Given the description of an element on the screen output the (x, y) to click on. 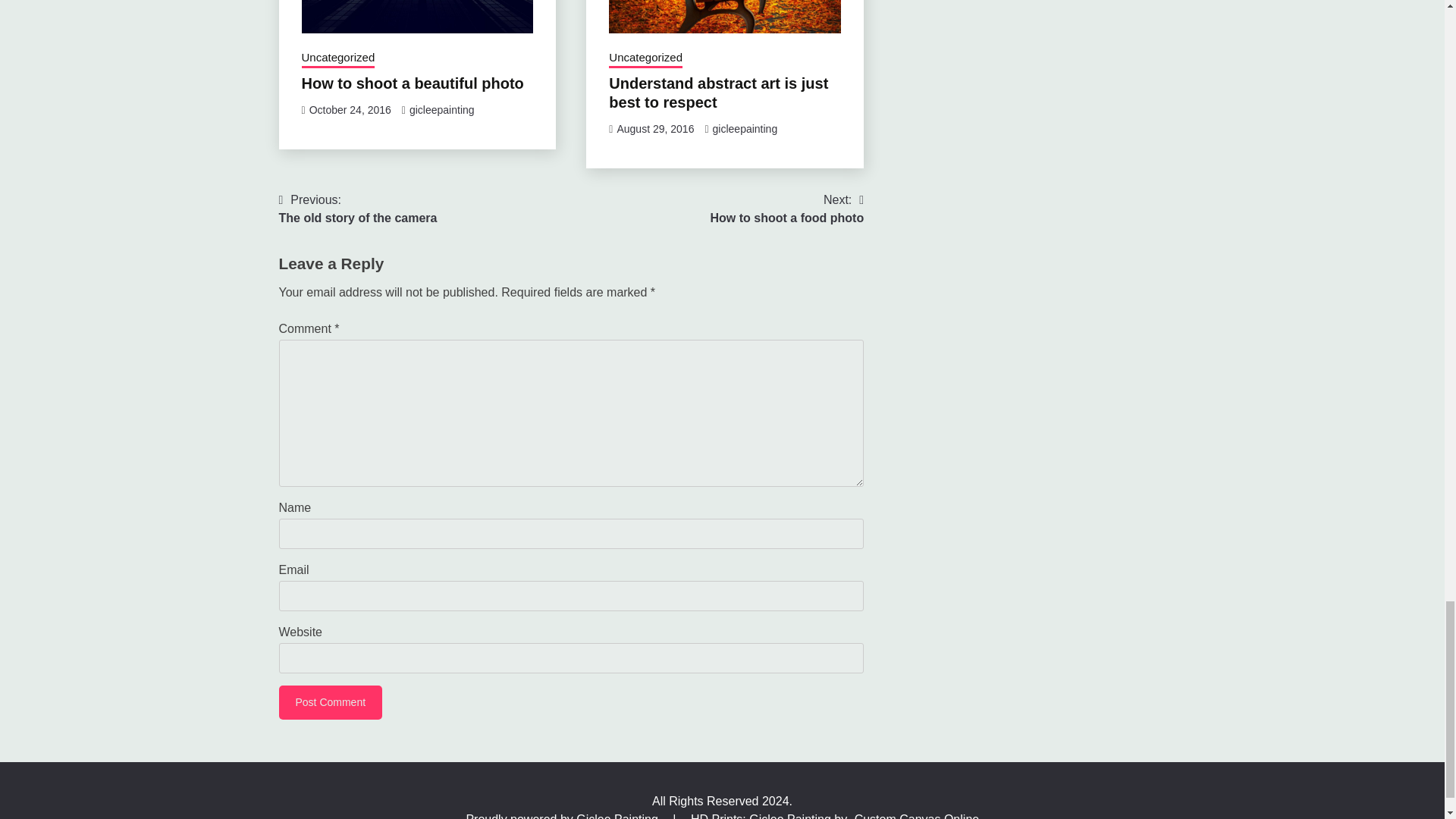
How to shoot a beautiful photo (412, 83)
gicleepainting (441, 110)
Understand abstract art is just best to respect (718, 92)
gicleepainting (745, 128)
Uncategorized (338, 58)
Uncategorized (645, 58)
August 29, 2016 (654, 128)
Post Comment (330, 702)
October 24, 2016 (358, 208)
